Given the description of an element on the screen output the (x, y) to click on. 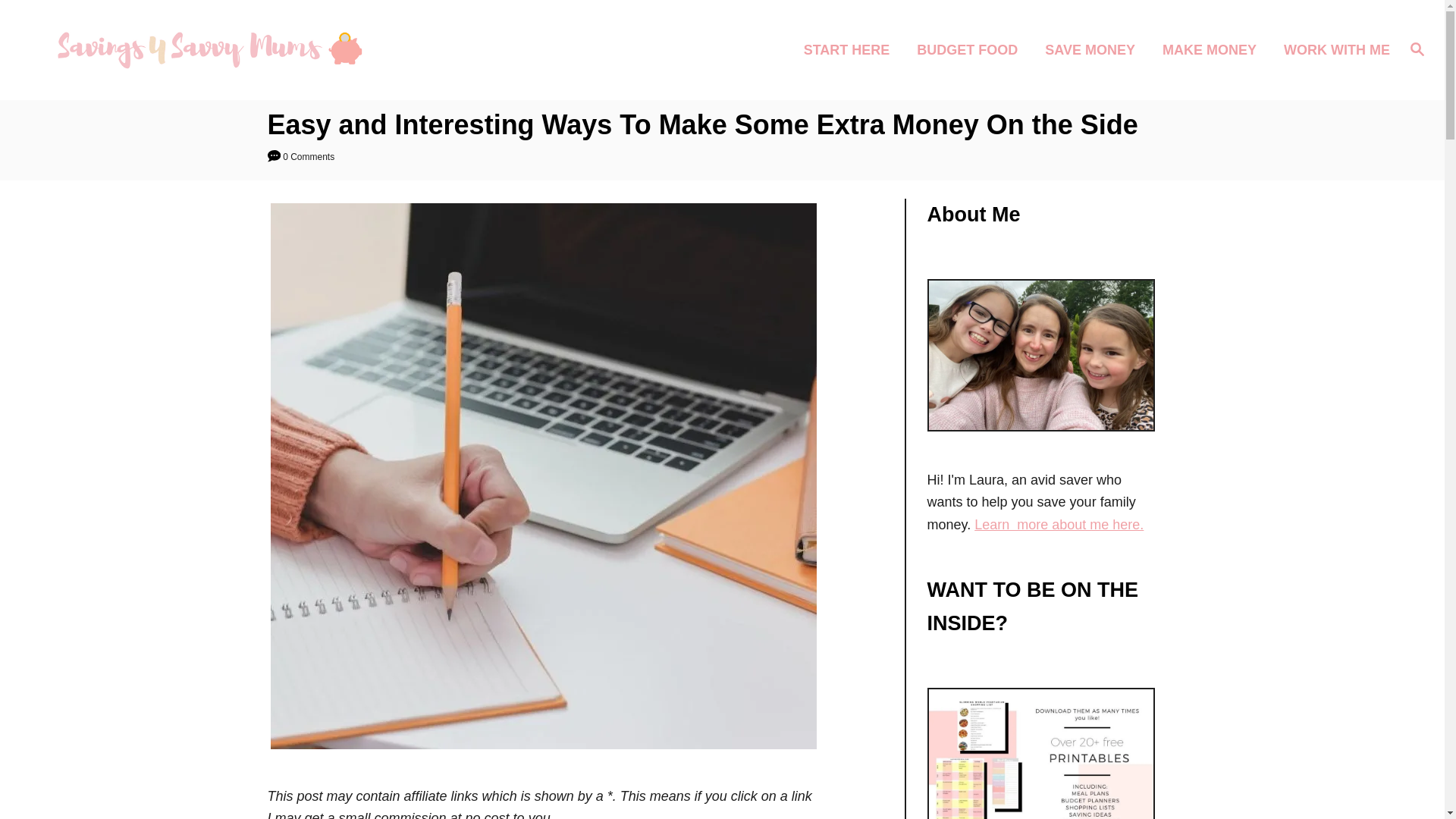
START HERE (851, 49)
MAKE MONEY (1214, 49)
Savings 4 Savvy Mums (204, 50)
SAVE MONEY (1094, 49)
WORK WITH ME (1332, 49)
BUDGET FOOD (971, 49)
Magnifying Glass (1416, 48)
Learn  more about me here. (1058, 524)
